Given the description of an element on the screen output the (x, y) to click on. 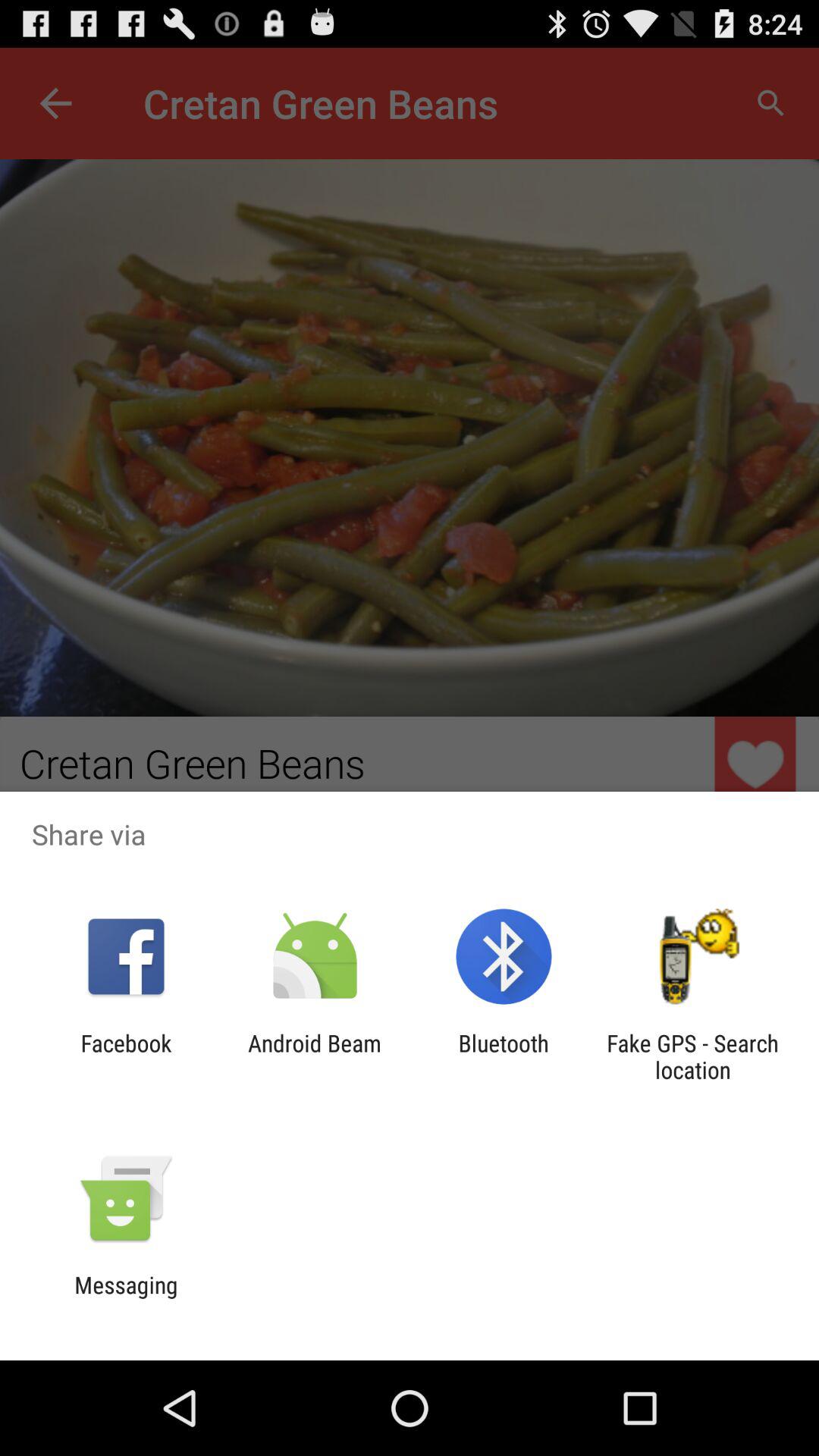
swipe to bluetooth app (503, 1056)
